Given the description of an element on the screen output the (x, y) to click on. 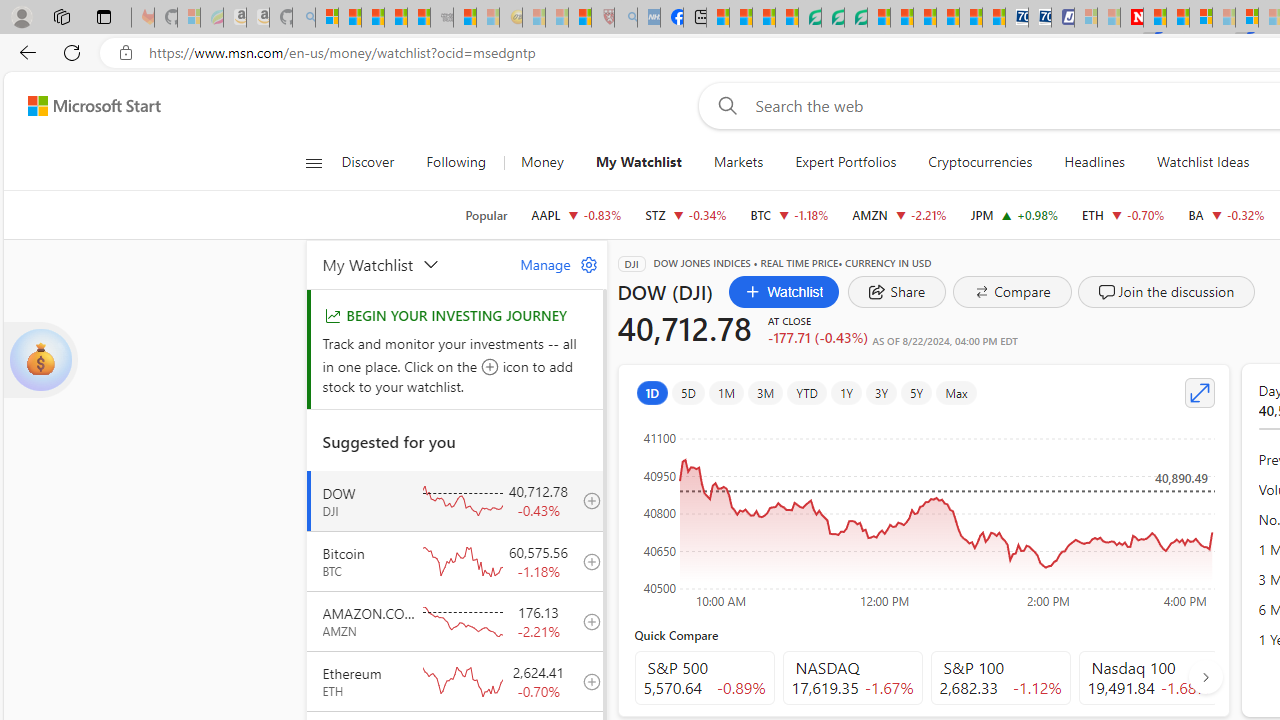
Cryptocurrencies (980, 162)
Headlines (1094, 162)
3Y (882, 392)
Max (955, 392)
Watchlist (784, 291)
Markets (738, 162)
